Given the description of an element on the screen output the (x, y) to click on. 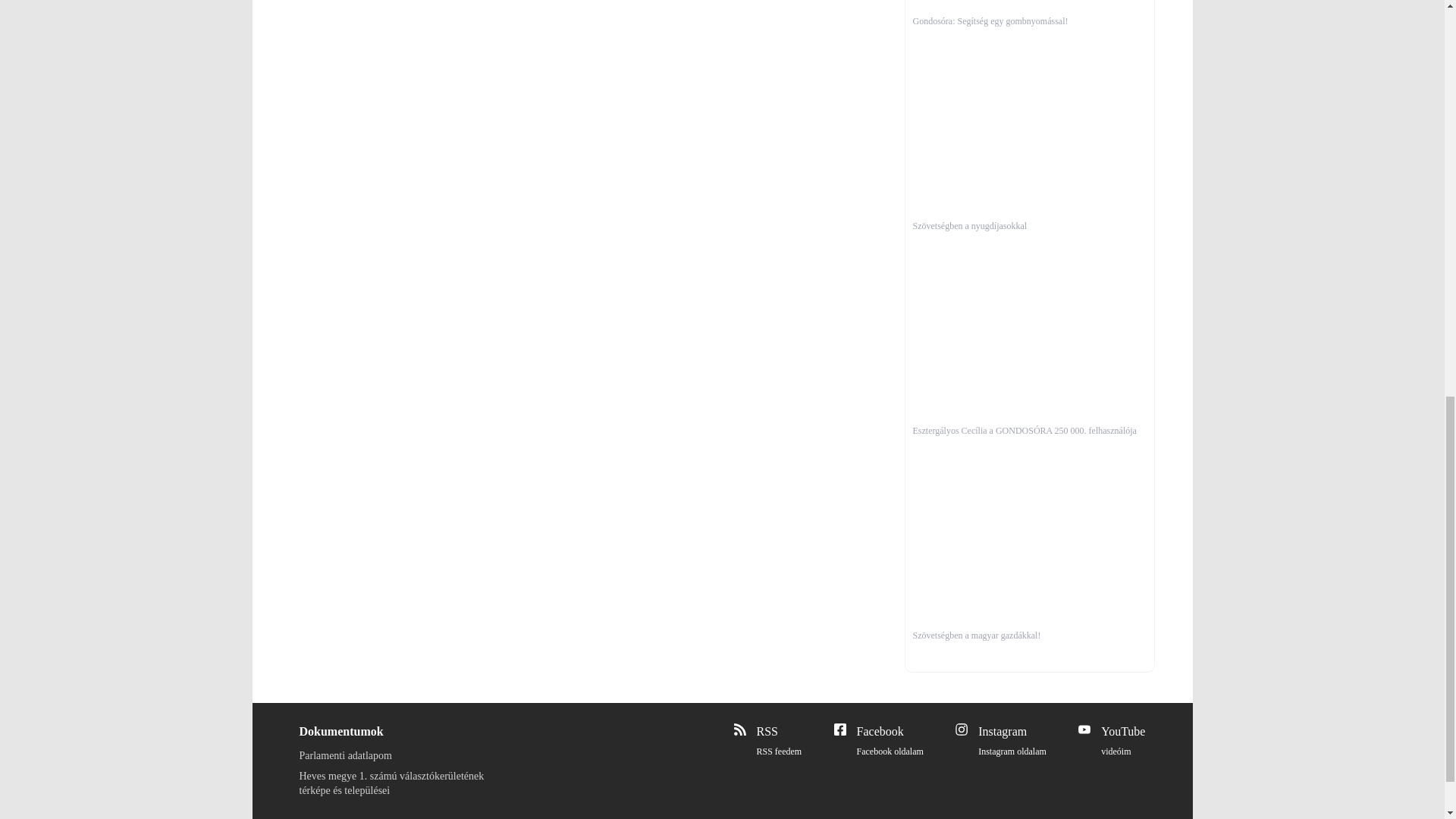
Parlamenti adatlapom (779, 741)
